Given the description of an element on the screen output the (x, y) to click on. 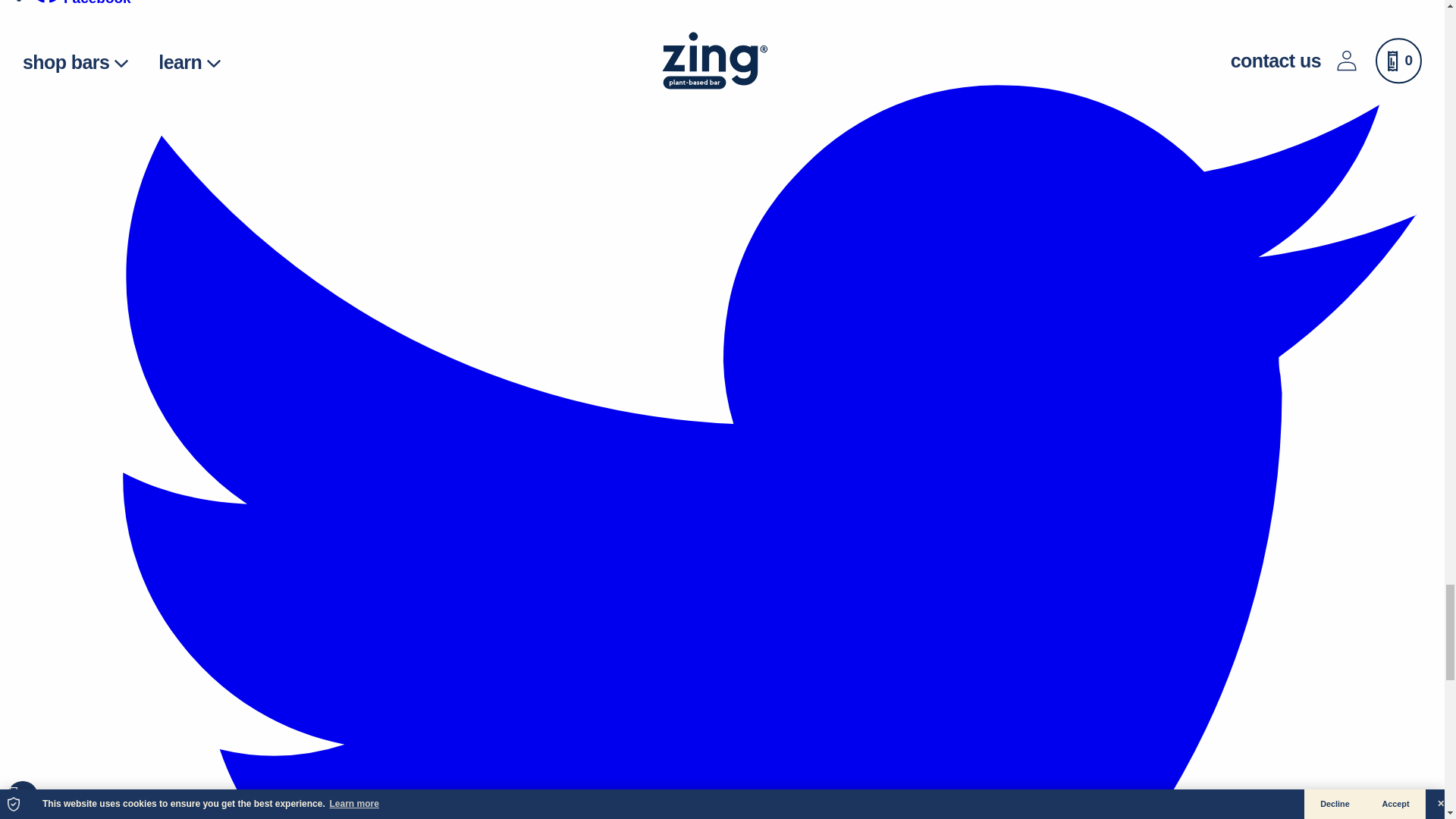
Facebook (80, 2)
Facebook (47, 1)
